Given the description of an element on the screen output the (x, y) to click on. 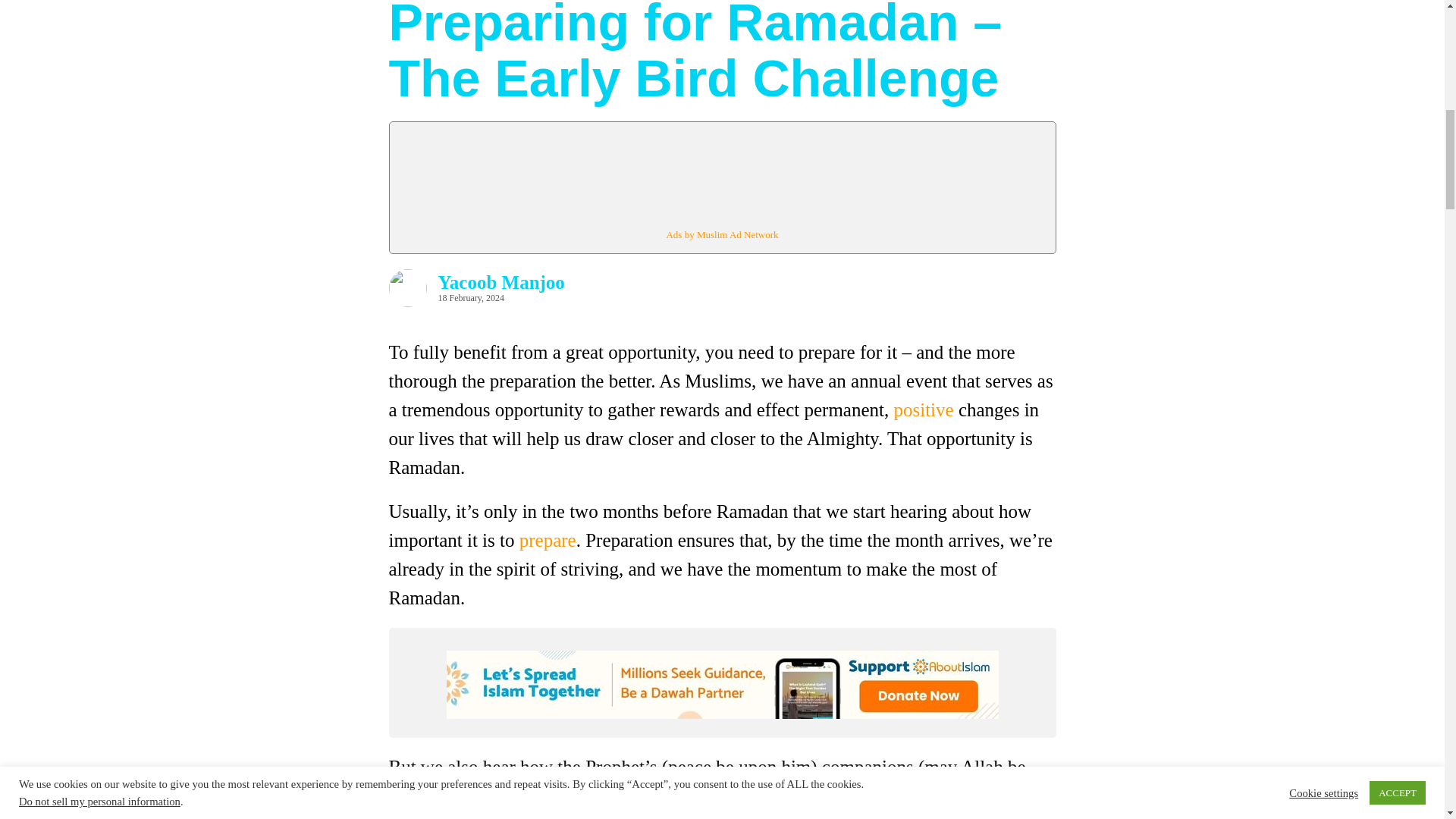
Ads by Muslim Ad Network (721, 234)
Advertise and Market to Muslims (721, 234)
Yacoob Manjoo (501, 281)
positive (923, 409)
prepare (547, 539)
